Given the description of an element on the screen output the (x, y) to click on. 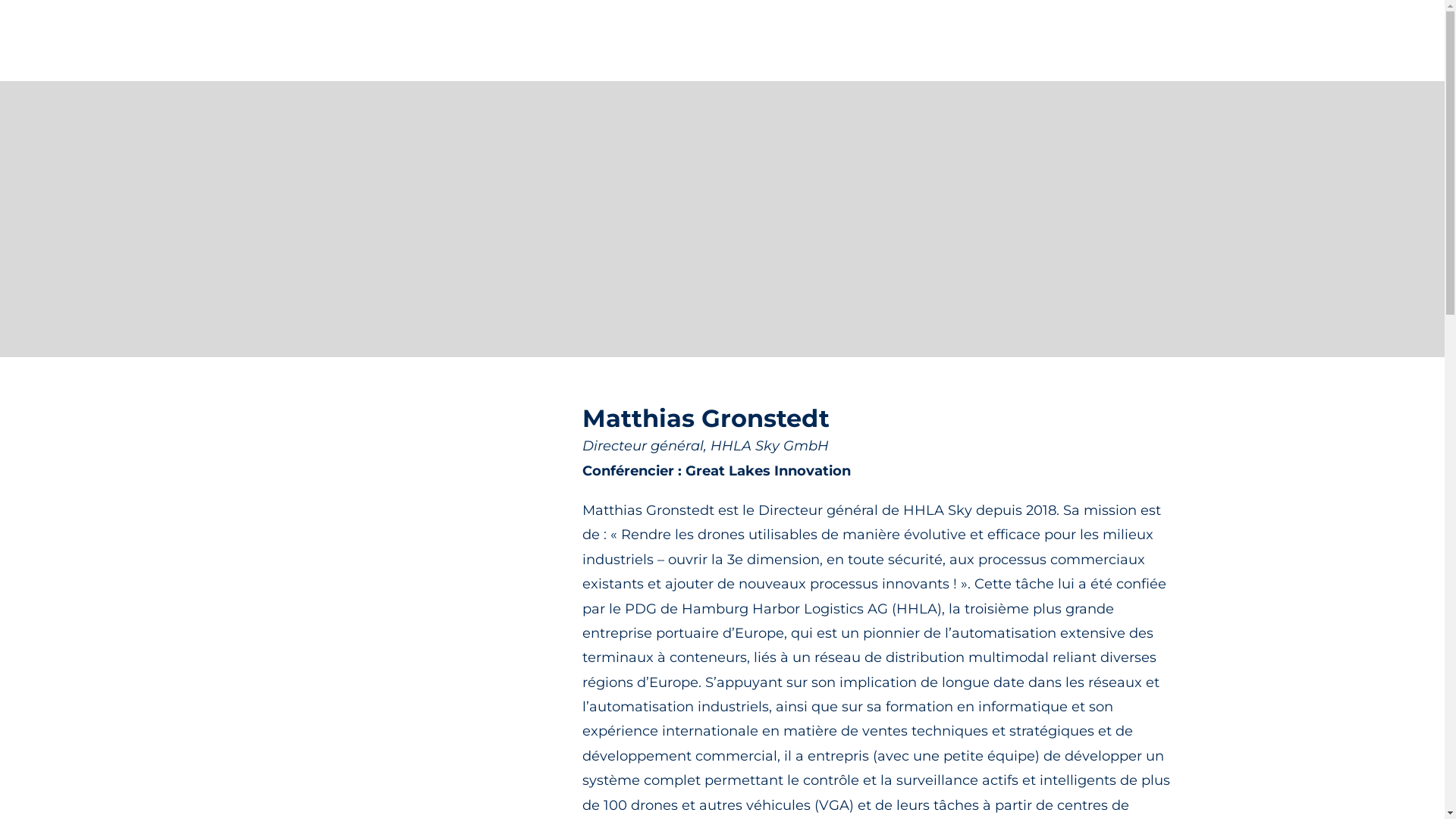
Matthias Gronstedt Element type: hover (406, 541)
